Given the description of an element on the screen output the (x, y) to click on. 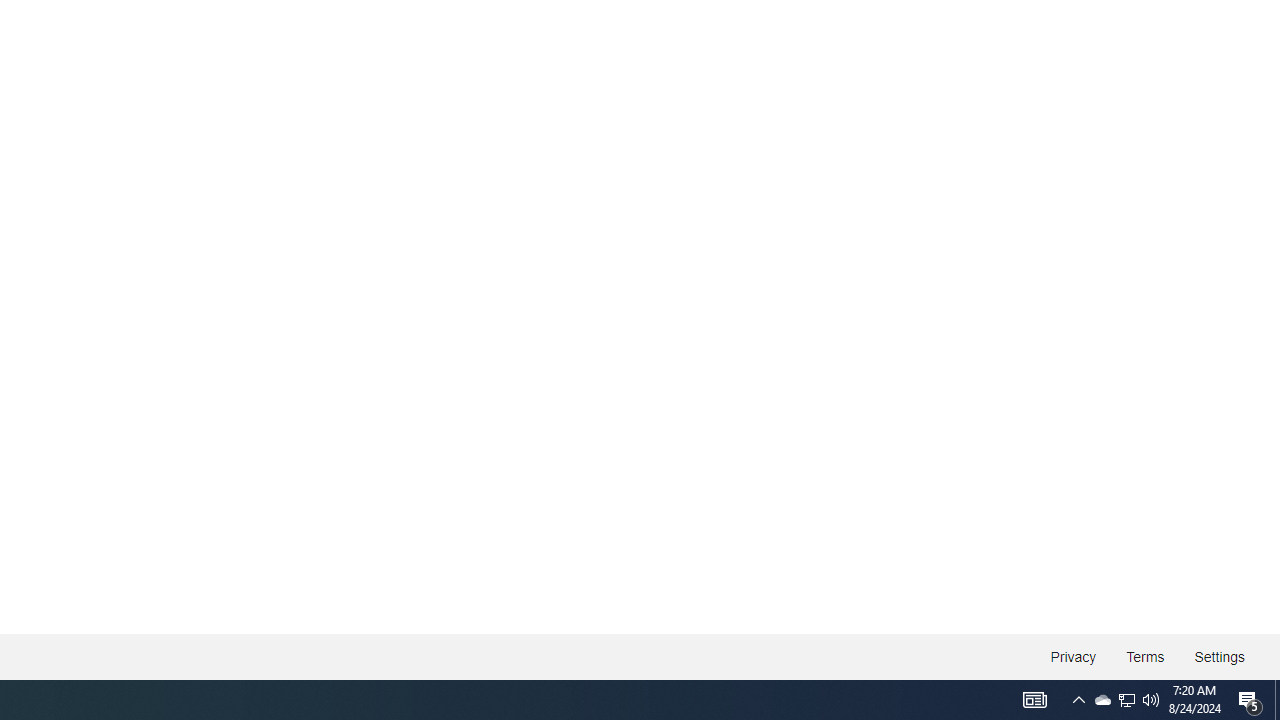
Privacy (1073, 656)
Settings (1218, 656)
Terms (1145, 656)
